Given the description of an element on the screen output the (x, y) to click on. 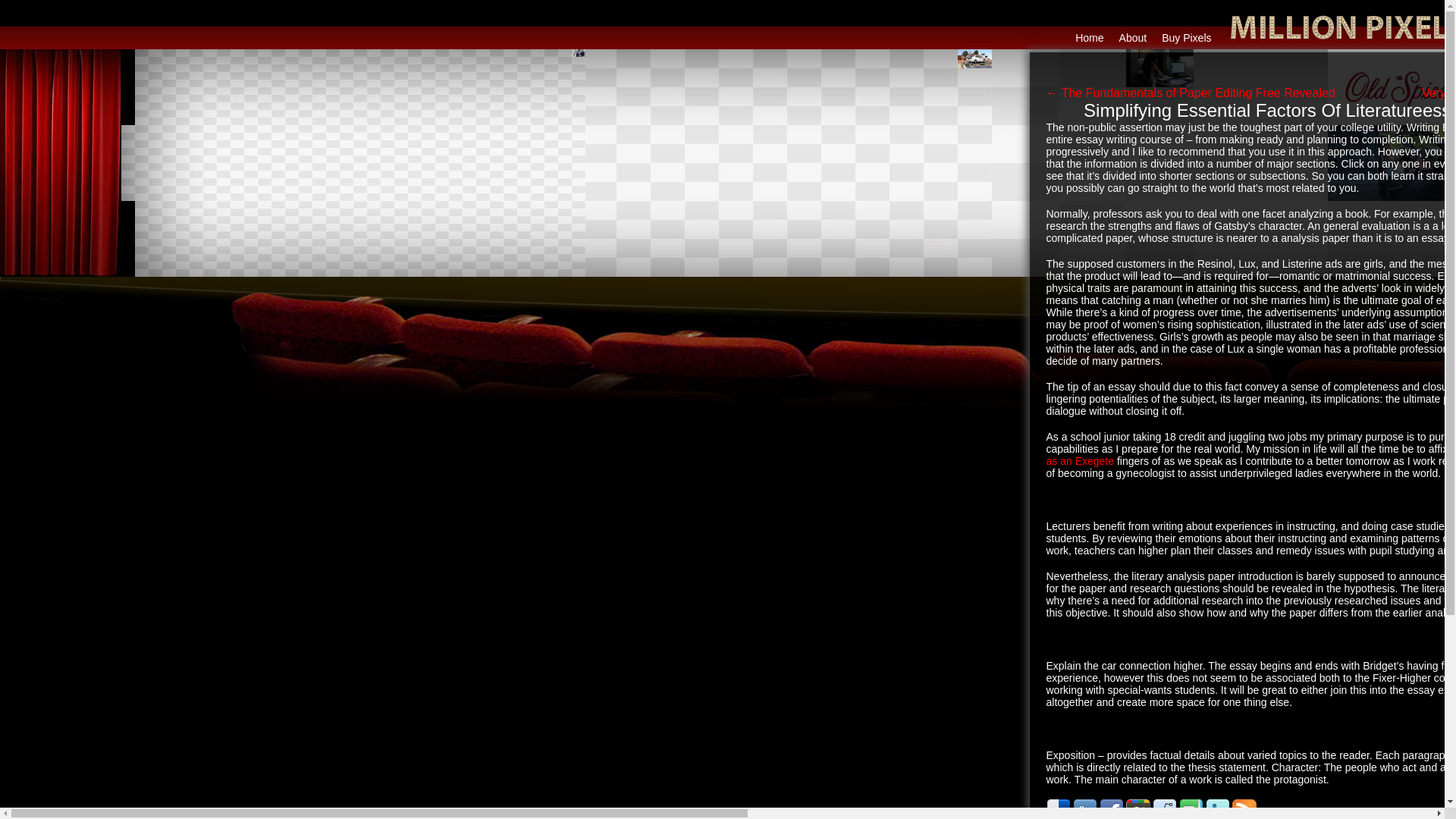
Buy Pixels (1186, 37)
Home (1089, 37)
About (1133, 37)
